Given the description of an element on the screen output the (x, y) to click on. 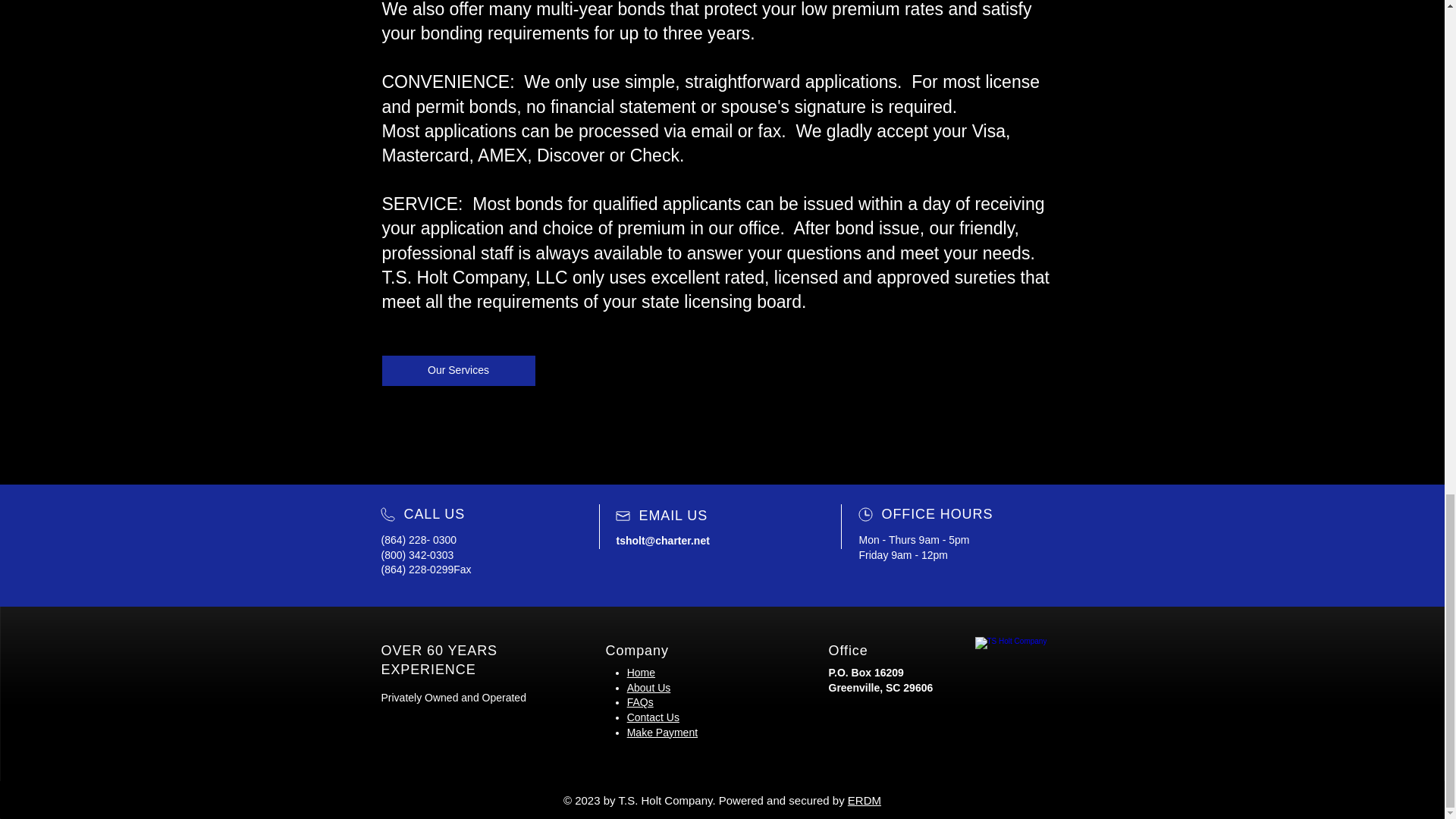
Contact Us (653, 717)
Our Services (458, 370)
Make Payment (662, 732)
About Us (649, 687)
Home (641, 672)
FAQs (640, 702)
ERDM (863, 799)
